Given the description of an element on the screen output the (x, y) to click on. 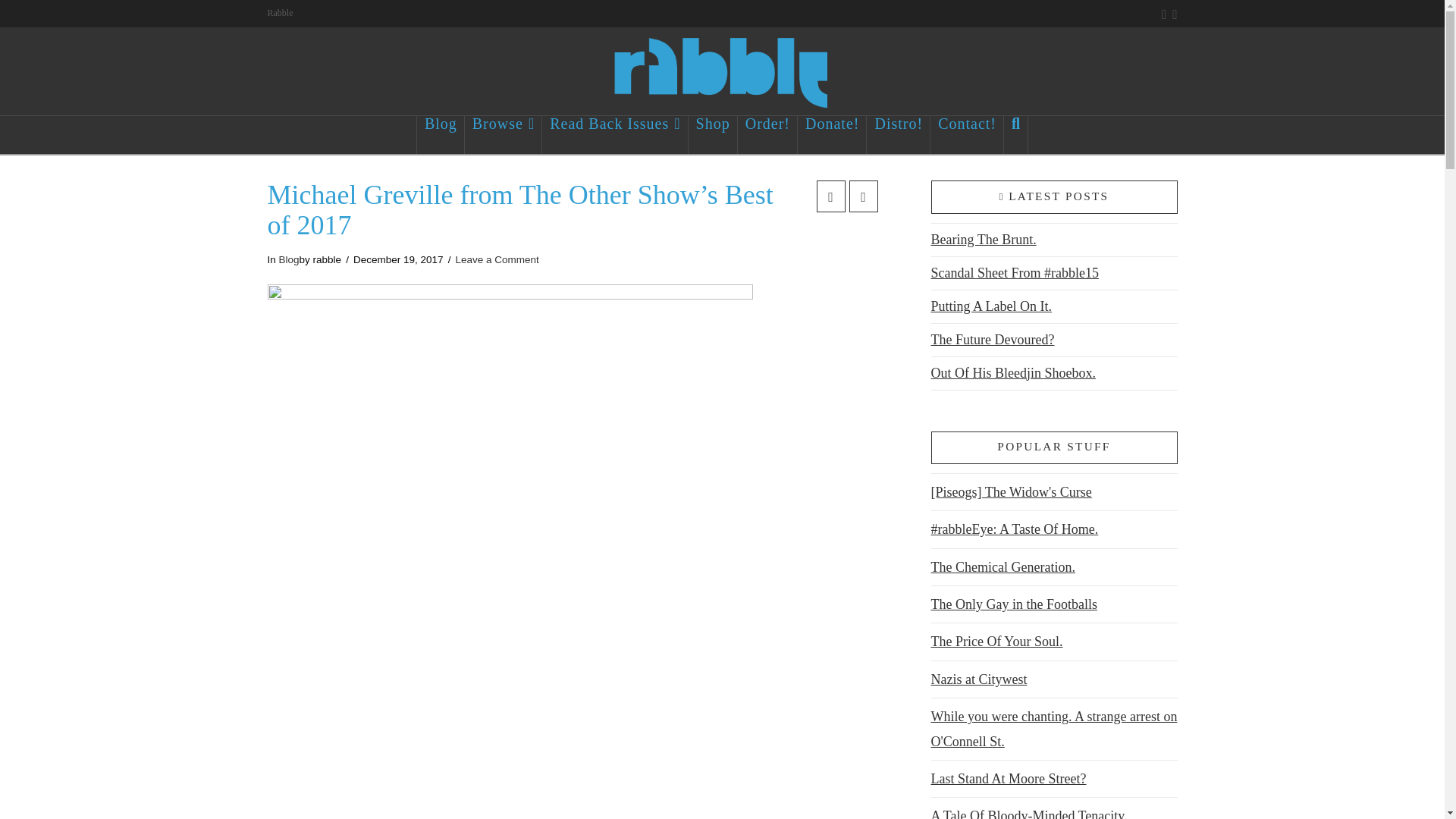
Read Back Issues (614, 134)
Order! (767, 134)
Browse (502, 134)
Blog (440, 134)
Donate! (831, 134)
Contact! (967, 134)
Shop (713, 134)
Distro! (898, 134)
